Given the description of an element on the screen output the (x, y) to click on. 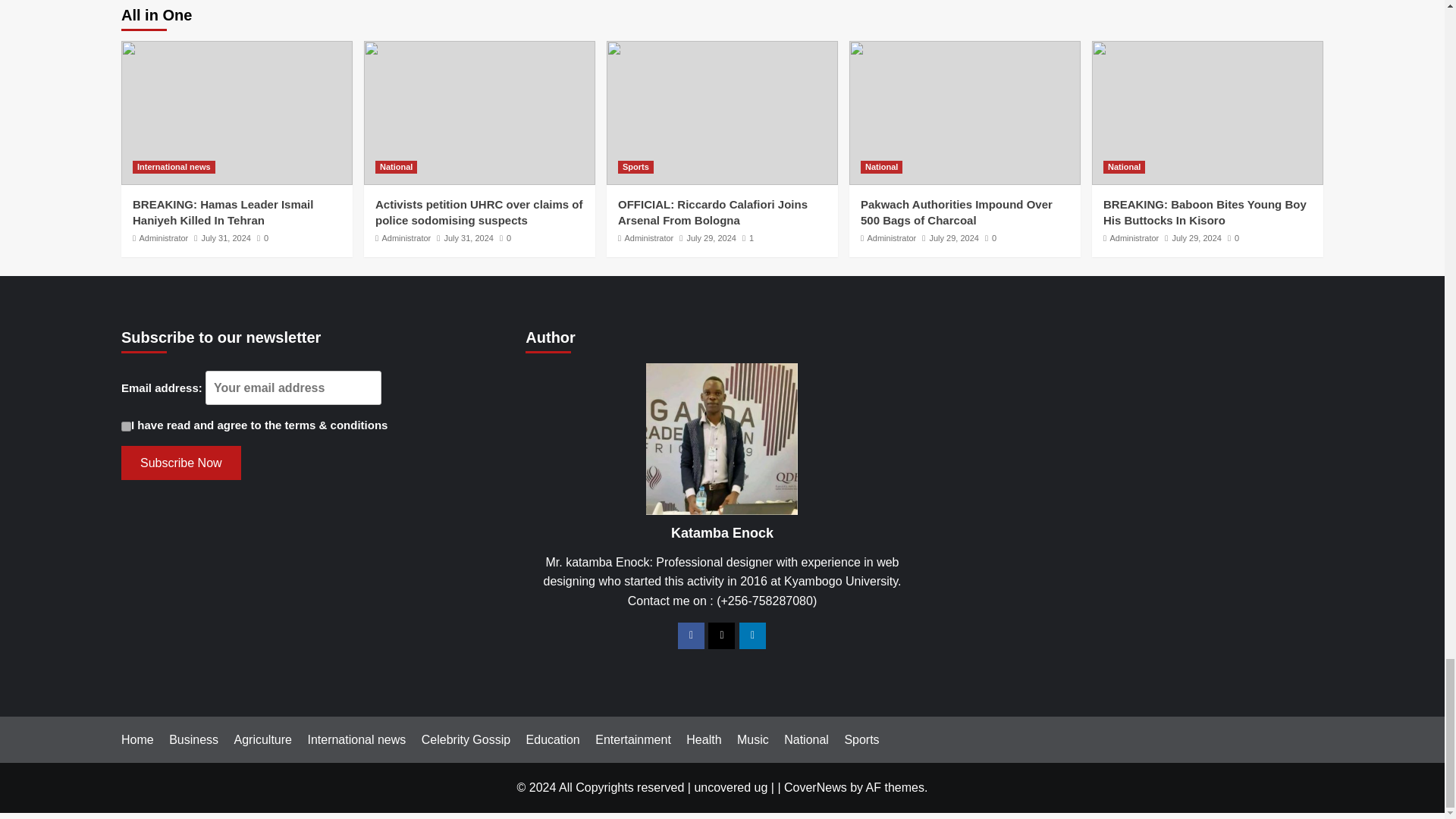
Subscribe Now (180, 462)
1 (125, 426)
